Given the description of an element on the screen output the (x, y) to click on. 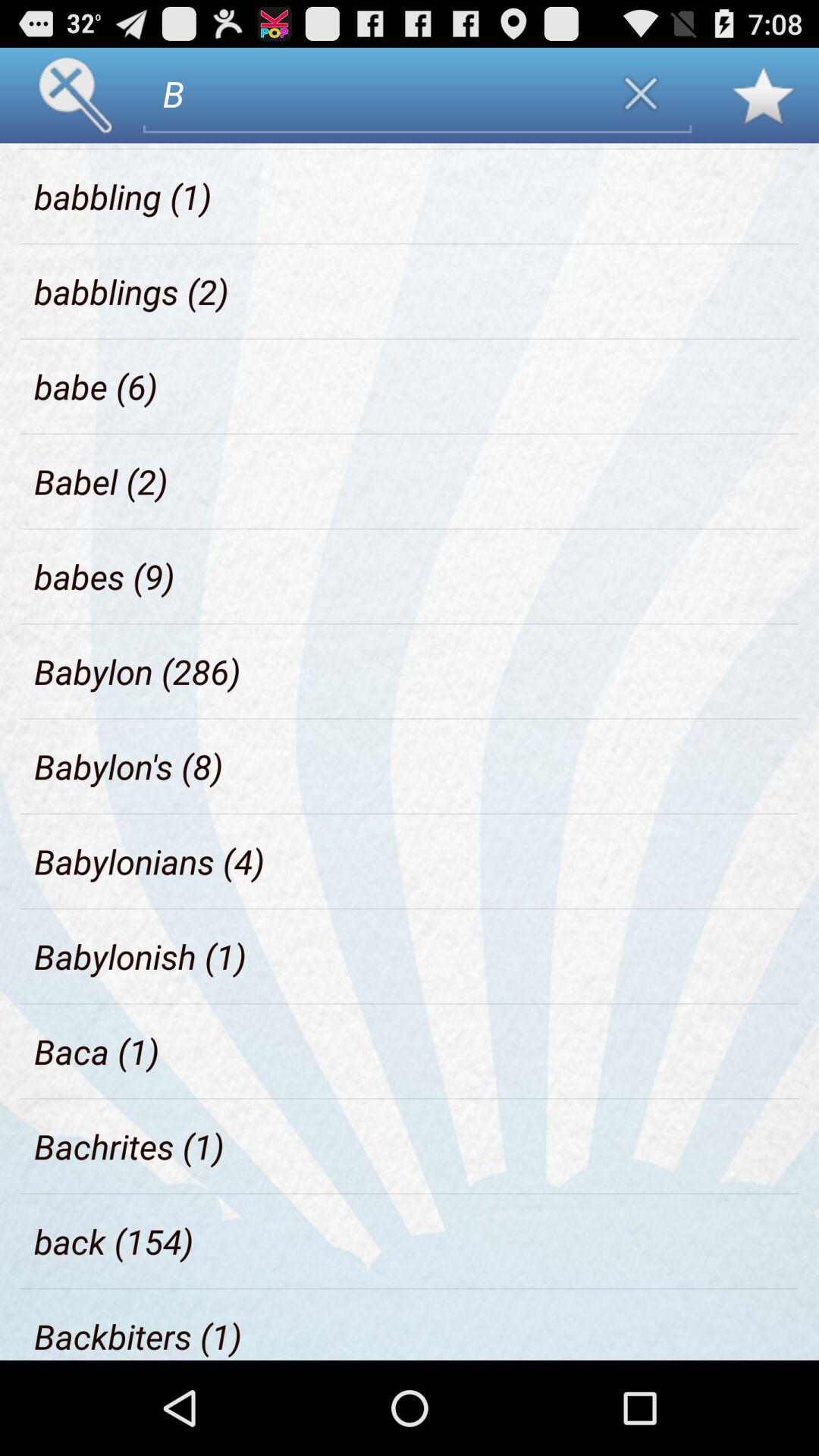
scroll to the baca (1) app (96, 1051)
